Given the description of an element on the screen output the (x, y) to click on. 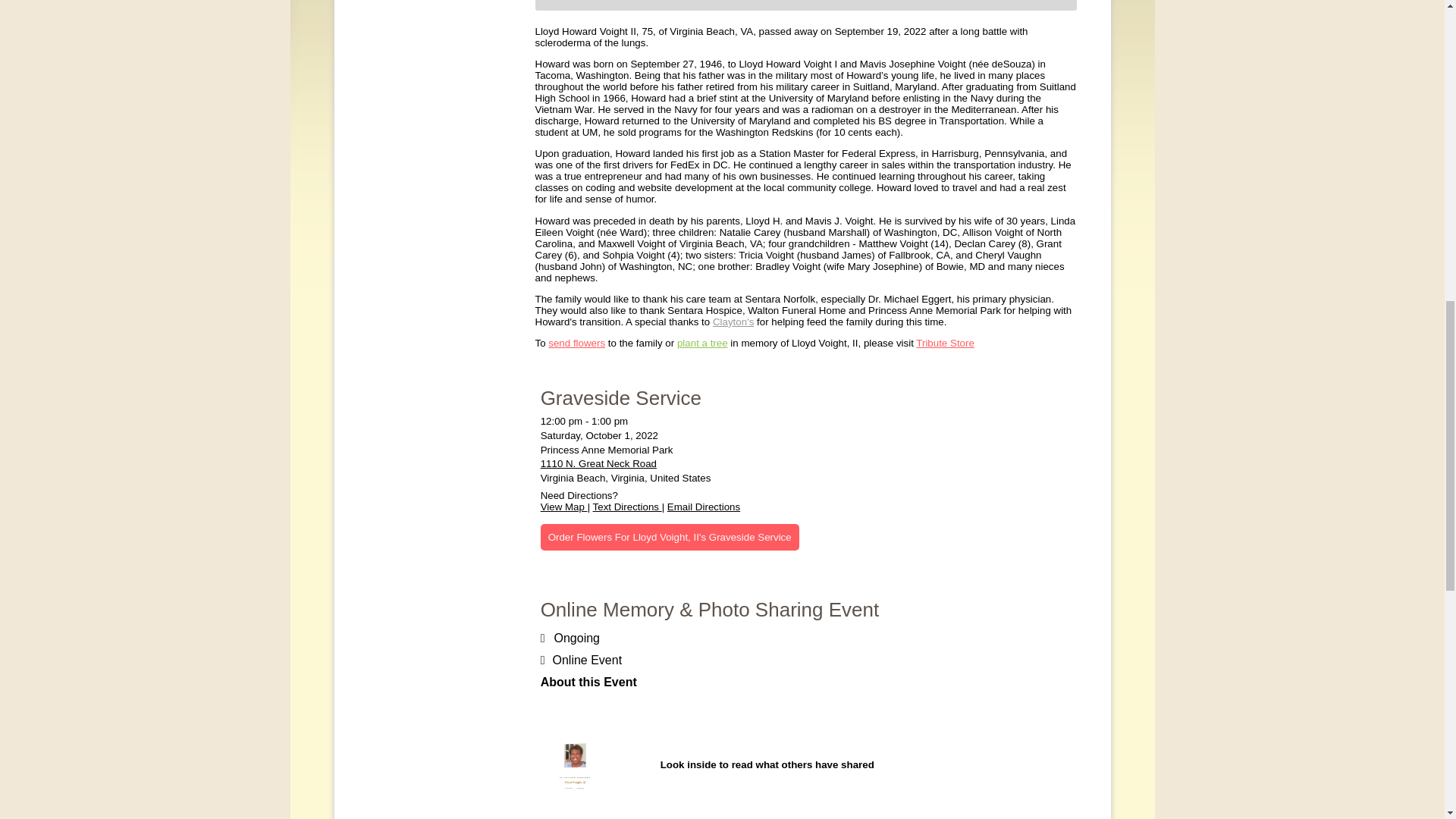
Twitter (415, 12)
Facebook (387, 12)
Receive Notifications (442, 12)
